Given the description of an element on the screen output the (x, y) to click on. 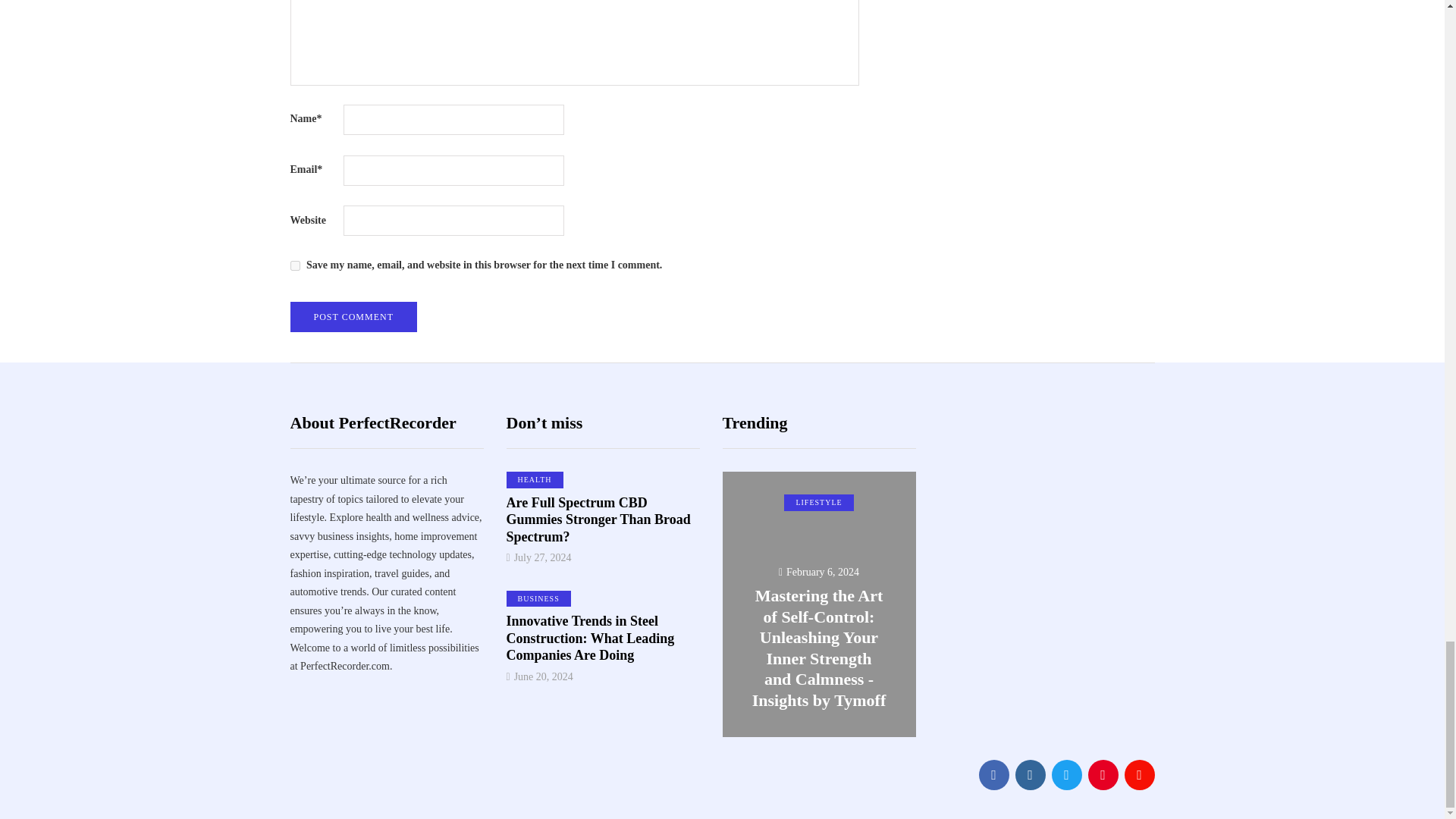
Post comment (352, 317)
yes (294, 266)
